Given the description of an element on the screen output the (x, y) to click on. 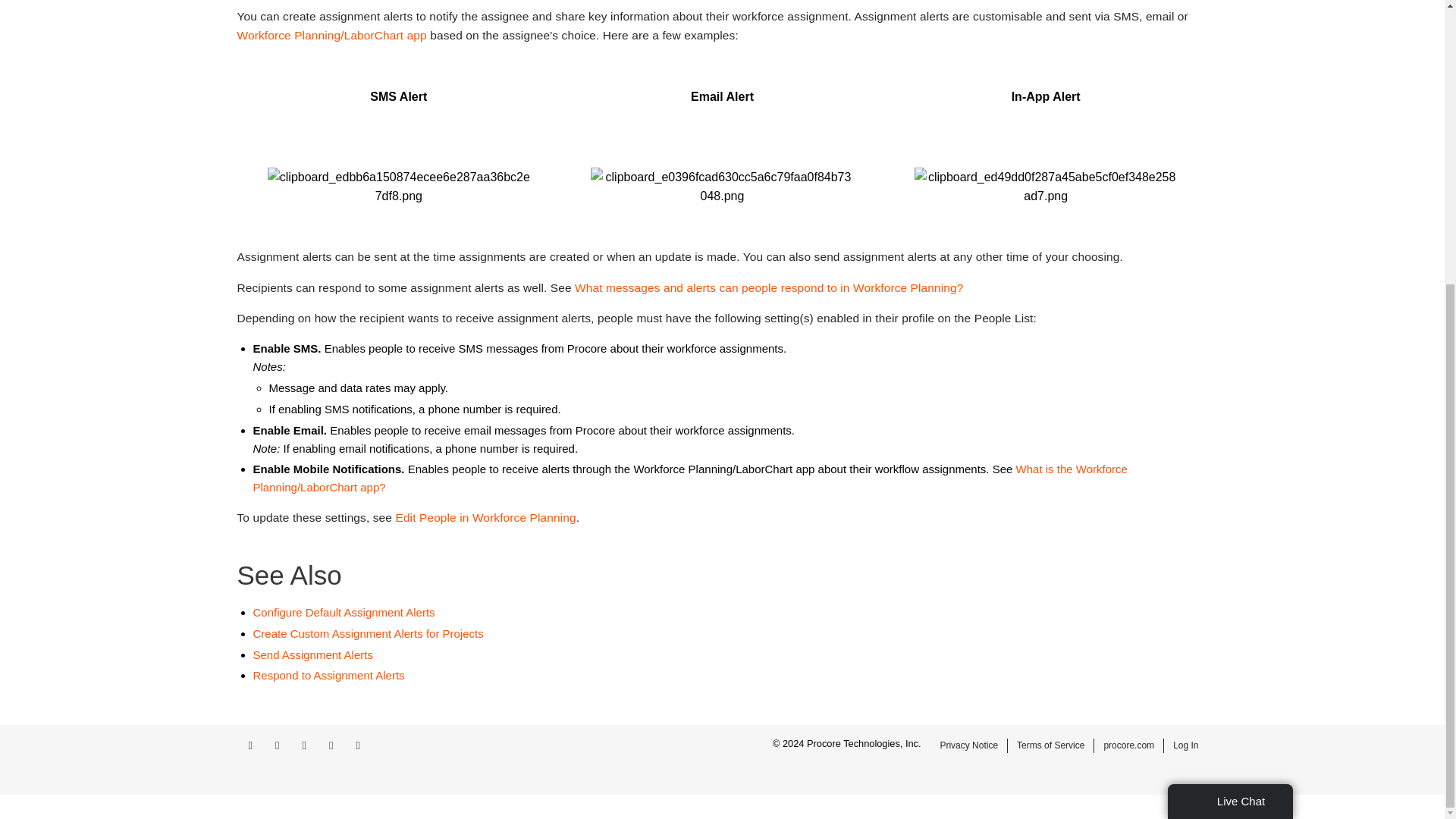
What is the LaborChart App? (330, 34)
Configure Default Assignment Alerts for Workforce Planning (344, 612)
Update People in Workforce Planning (484, 517)
Send Workforce Assignment Alerts (312, 654)
Live Chat (1229, 373)
Configure Default Assignment Alerts (344, 612)
Create Custom Assignment Alerts for Projects (368, 633)
Respond to Assignment Alerts for Workforce Planning (328, 675)
Configure Custom Assignment Alerts for Projects (368, 633)
Edit People in Workforce Planning (484, 517)
Send Assignment Alerts (312, 654)
Respond to Assignment Alerts (328, 675)
